Given the description of an element on the screen output the (x, y) to click on. 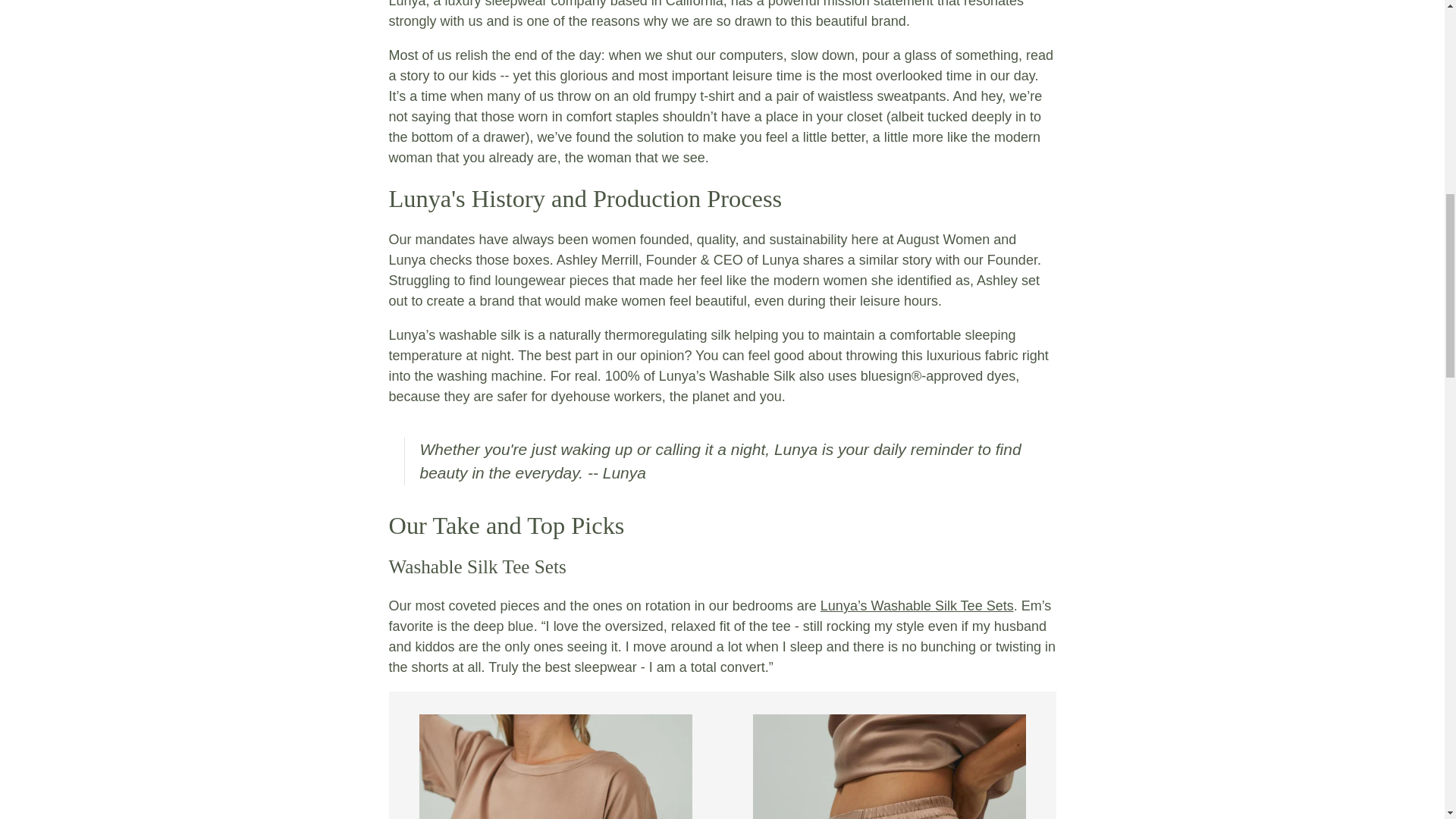
washable silk pajama tshirt set (917, 605)
